Given the description of an element on the screen output the (x, y) to click on. 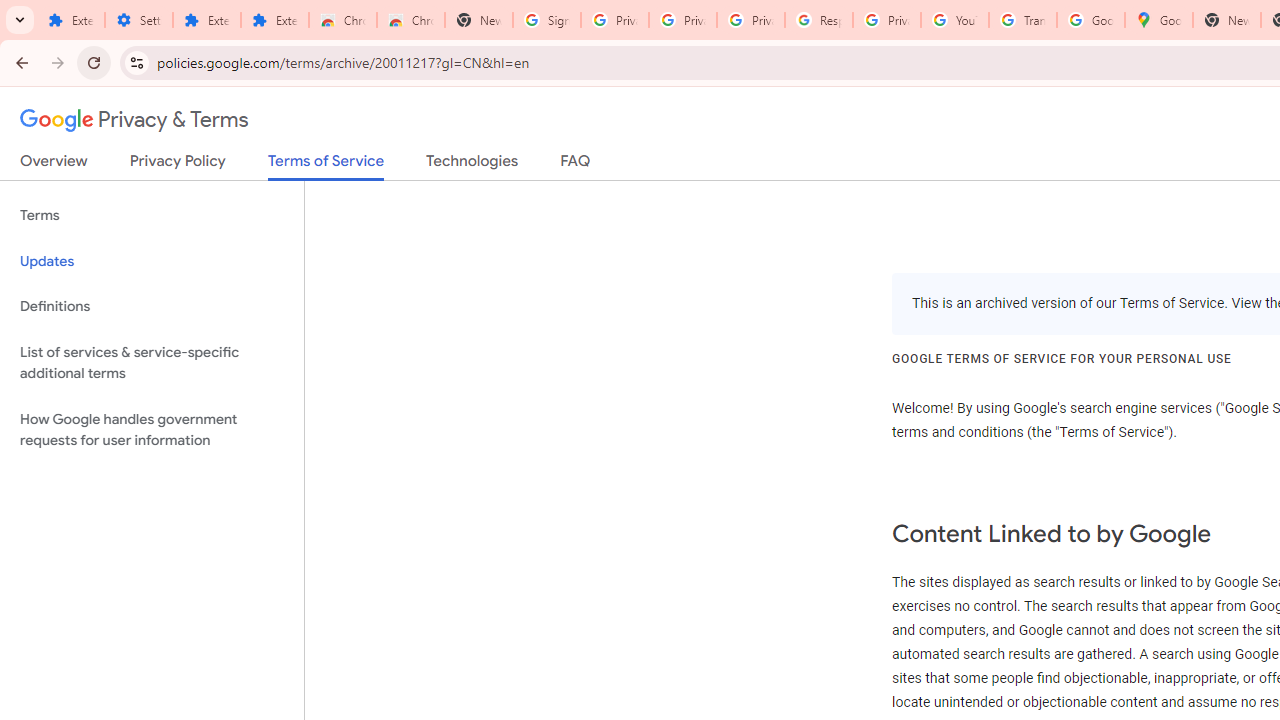
New Tab (479, 20)
Extensions (206, 20)
New Tab (1226, 20)
How Google handles government requests for user information (152, 429)
Chrome Web Store - Themes (411, 20)
